Given the description of an element on the screen output the (x, y) to click on. 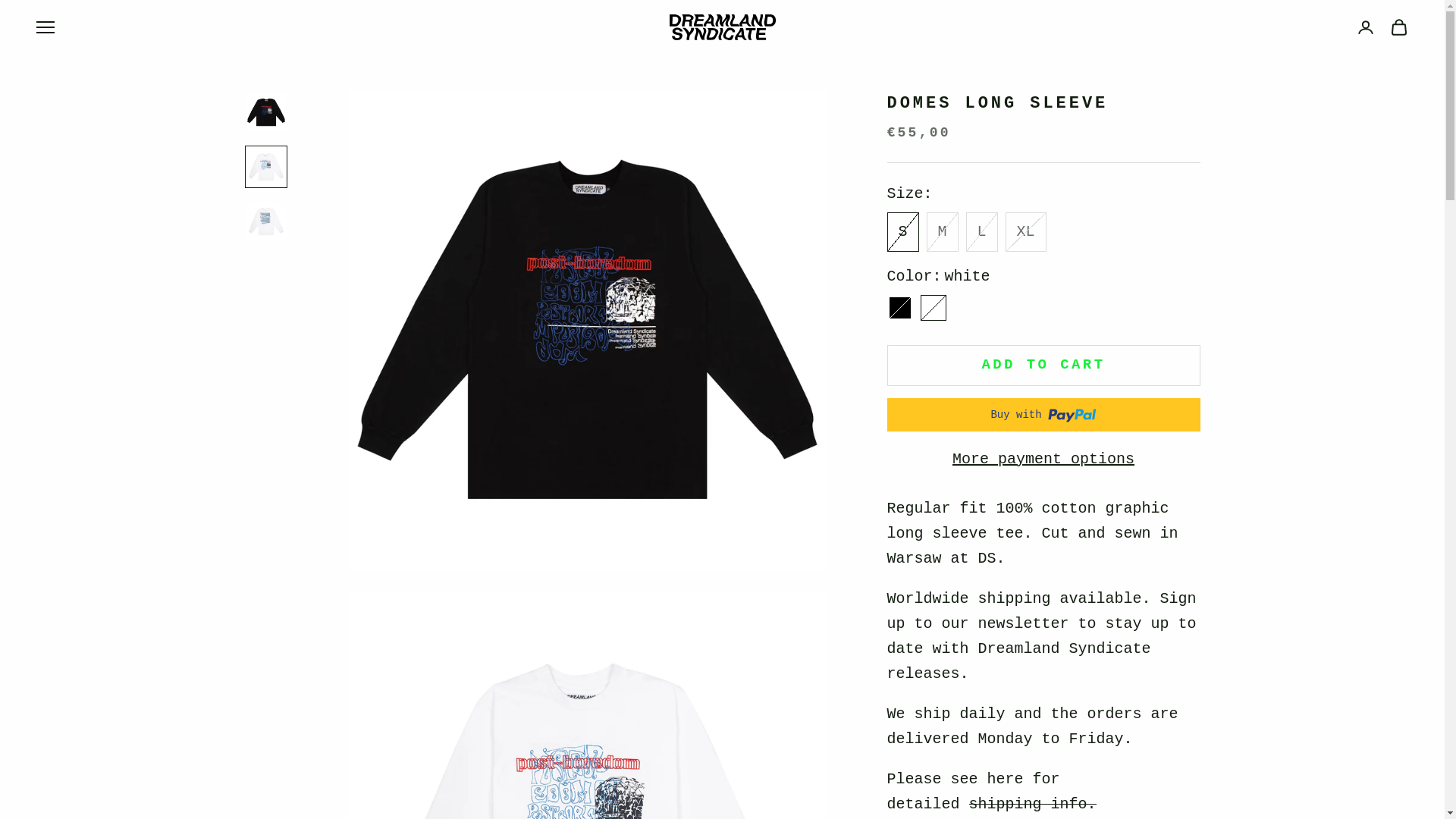
Open cart (1398, 27)
More payment options (1042, 458)
Open navigation menu (45, 27)
ADD TO CART (1042, 364)
Open account page (1365, 27)
Dreamland Syndicate (721, 27)
shipping info. (1032, 804)
